Given the description of an element on the screen output the (x, y) to click on. 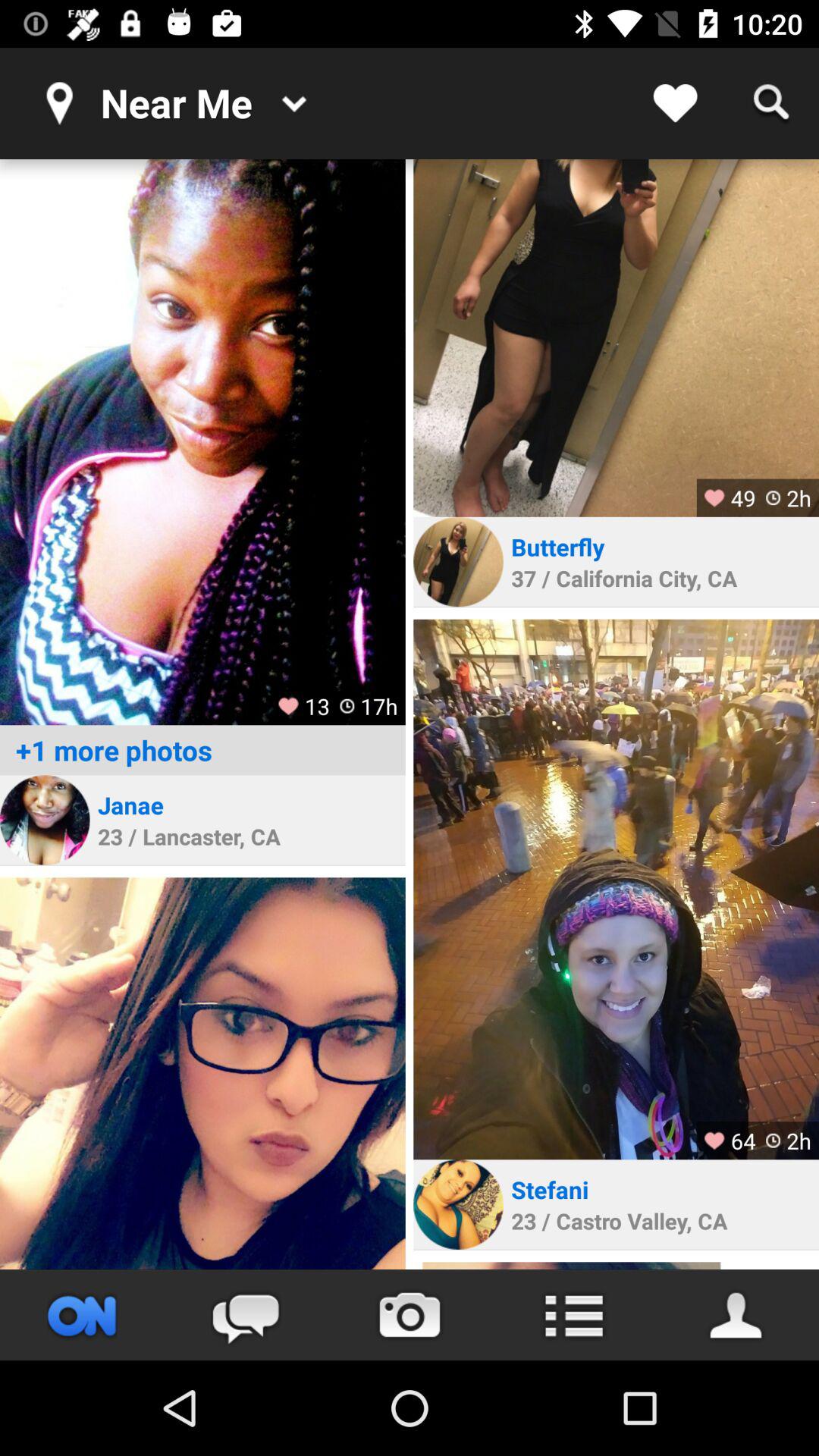
take picture (409, 1315)
